Given the description of an element on the screen output the (x, y) to click on. 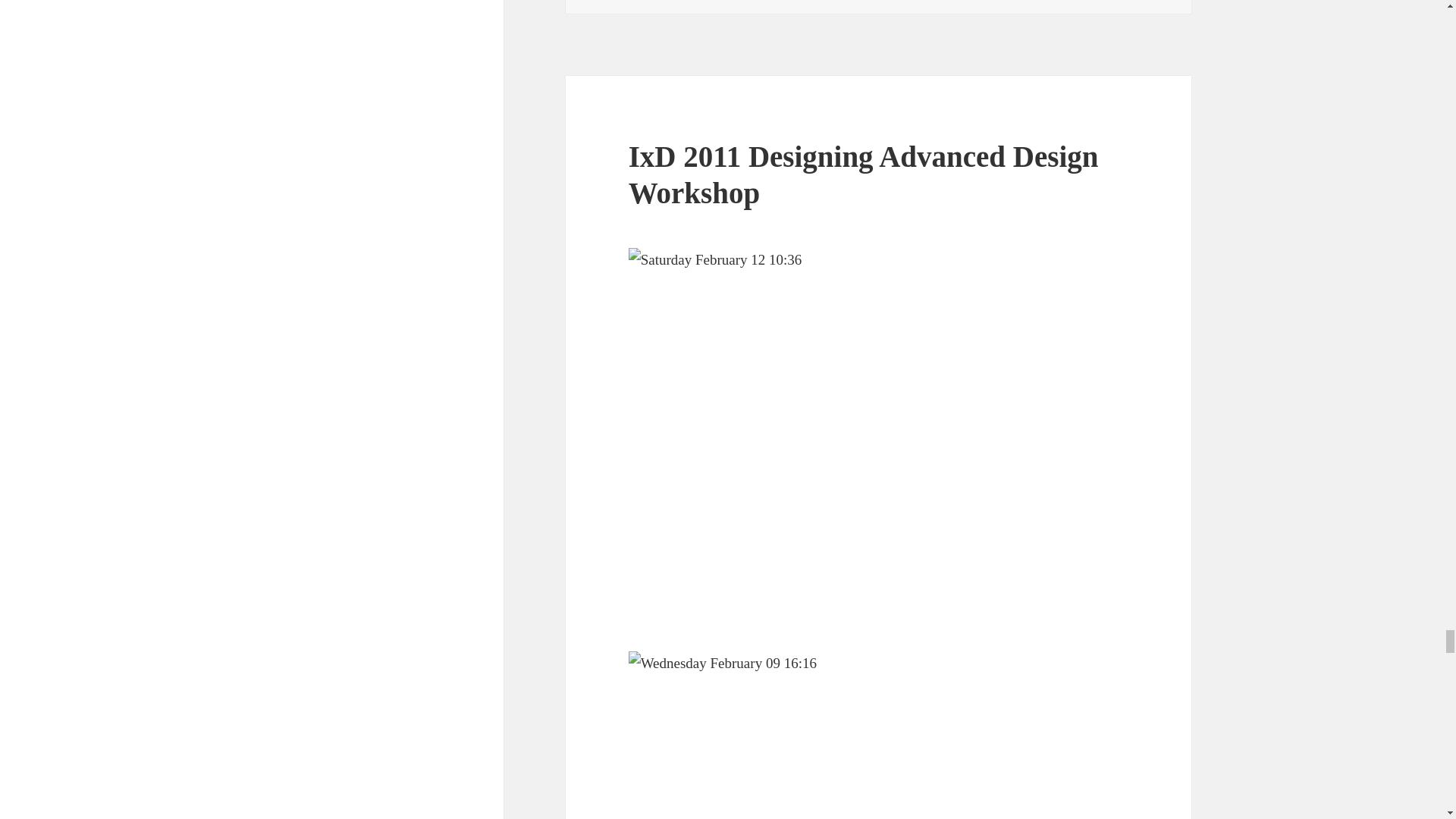
Wednesday February 09 16:16 by JulianBleecker, on Flickr (878, 735)
